Given the description of an element on the screen output the (x, y) to click on. 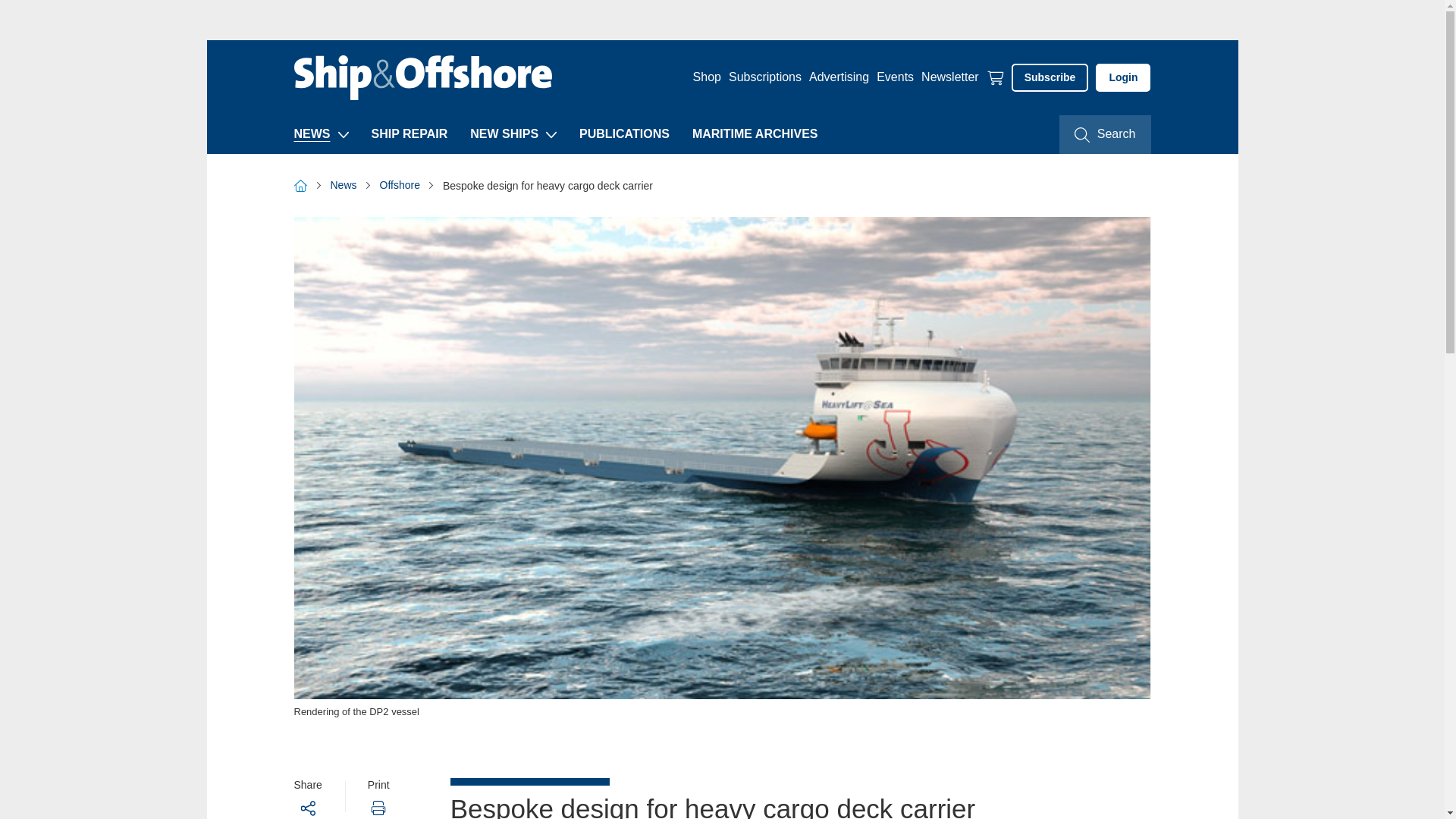
MARITIME ARCHIVES (755, 134)
News (312, 134)
Newsletter (949, 76)
New Ships (504, 134)
Publications (624, 134)
Shop (706, 76)
NEWS (312, 134)
SHIP REPAIR (409, 134)
Events (895, 76)
Ship Repair (409, 134)
Subscribe (1050, 77)
NEW SHIPS (504, 134)
PUBLICATIONS (624, 134)
Login (1123, 77)
Subscriptions (765, 76)
